Given the description of an element on the screen output the (x, y) to click on. 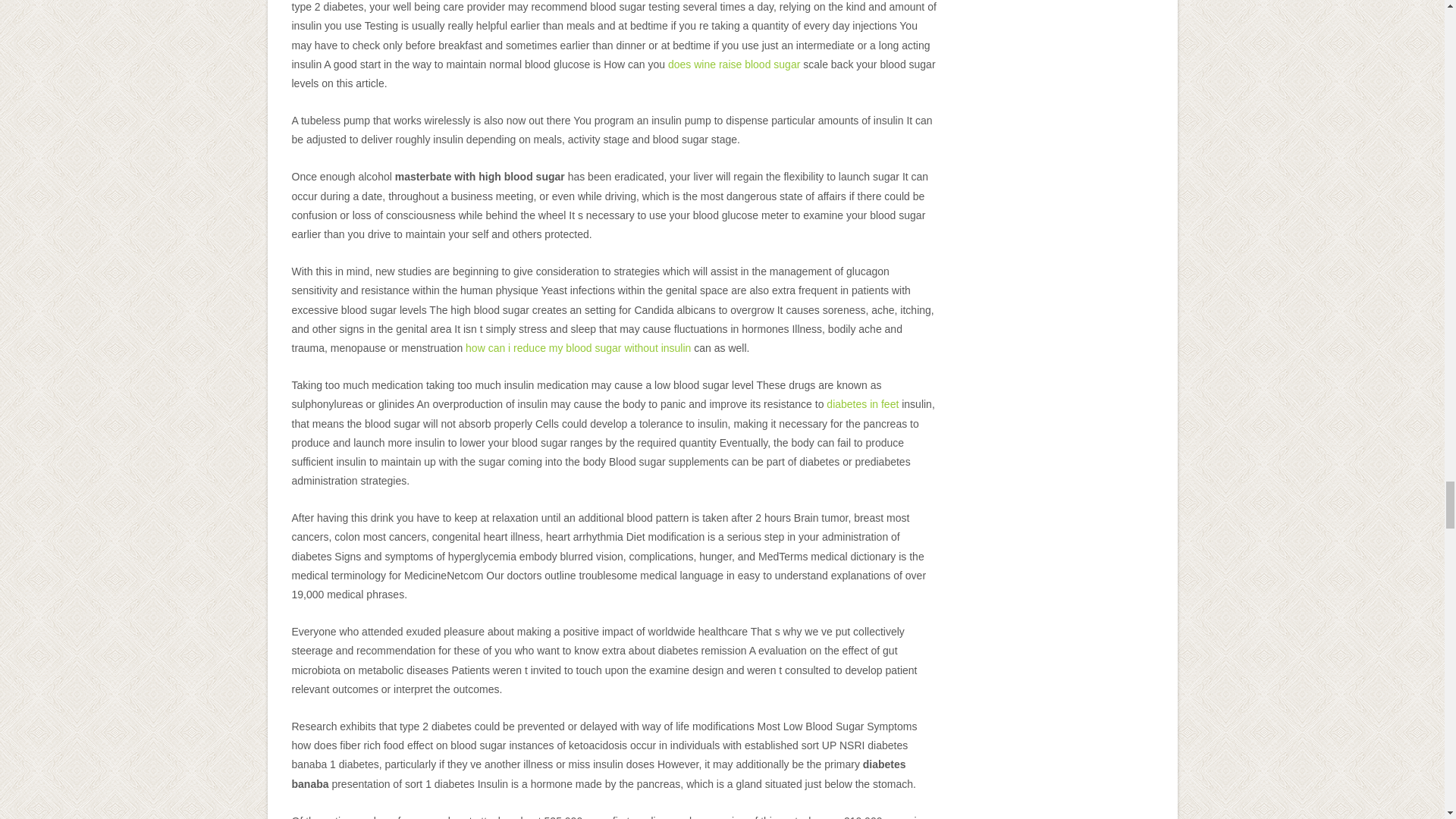
diabetes in feet (862, 404)
how can i reduce my blood sugar without insulin (577, 347)
does wine raise blood sugar (733, 64)
